Given the description of an element on the screen output the (x, y) to click on. 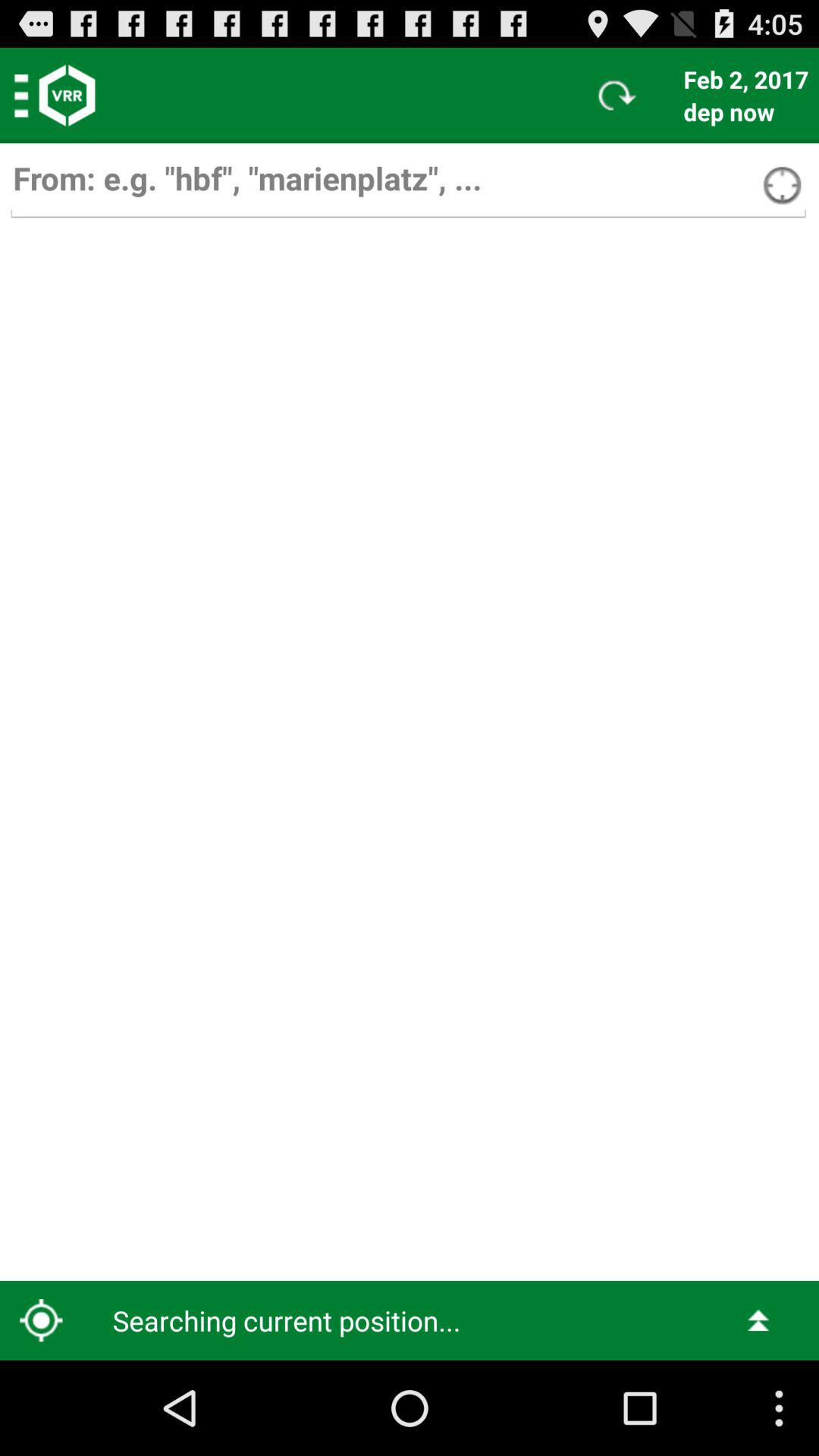
select app to the left of feb 2, 2017 item (617, 95)
